Given the description of an element on the screen output the (x, y) to click on. 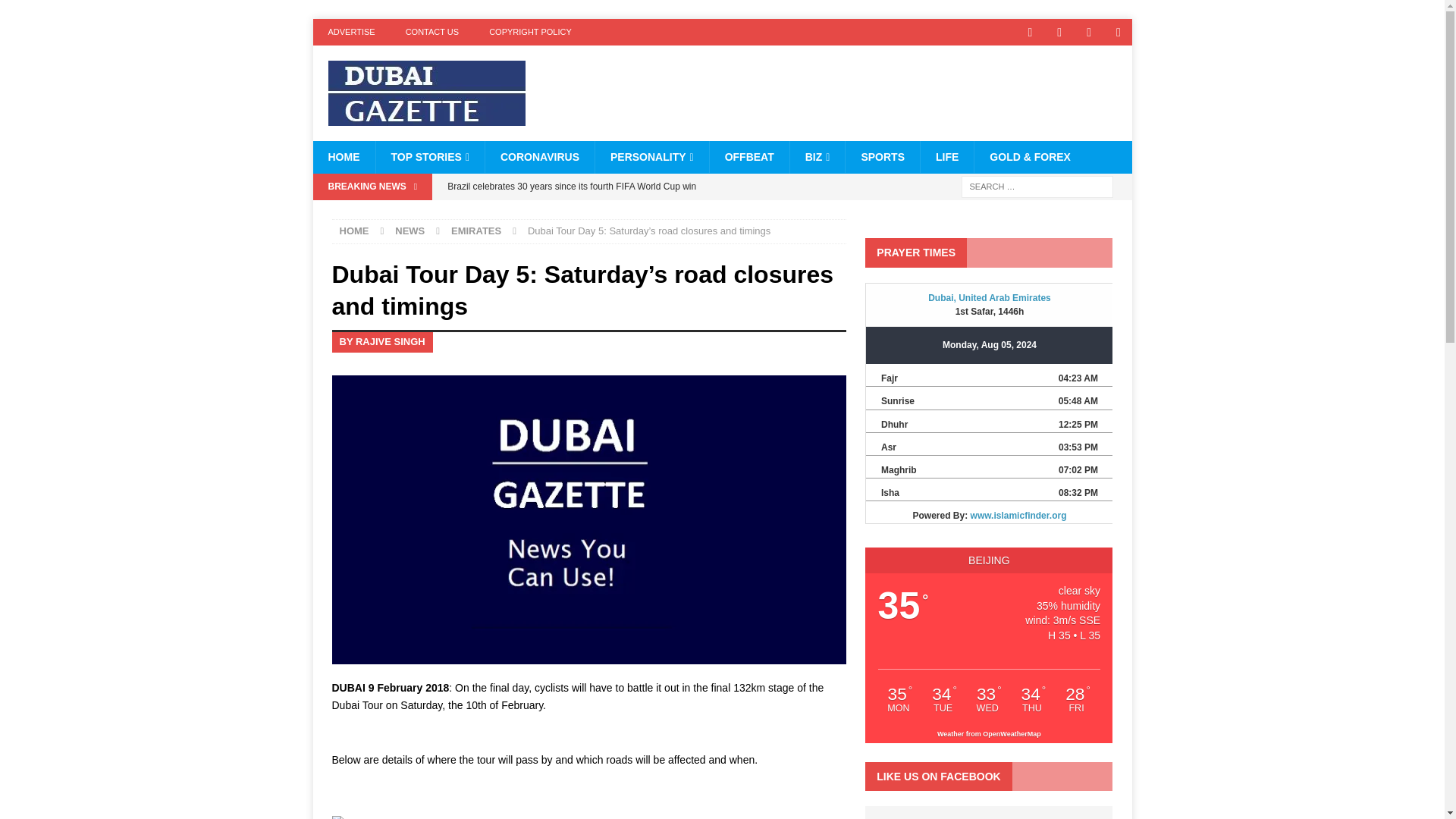
HOME (343, 156)
ADVERTISE (351, 31)
CONTACT US (432, 31)
TOP STORIES (429, 156)
PERSONALITY (651, 156)
CORONAVIRUS (539, 156)
COPYRIGHT POLICY (530, 31)
